Given the description of an element on the screen output the (x, y) to click on. 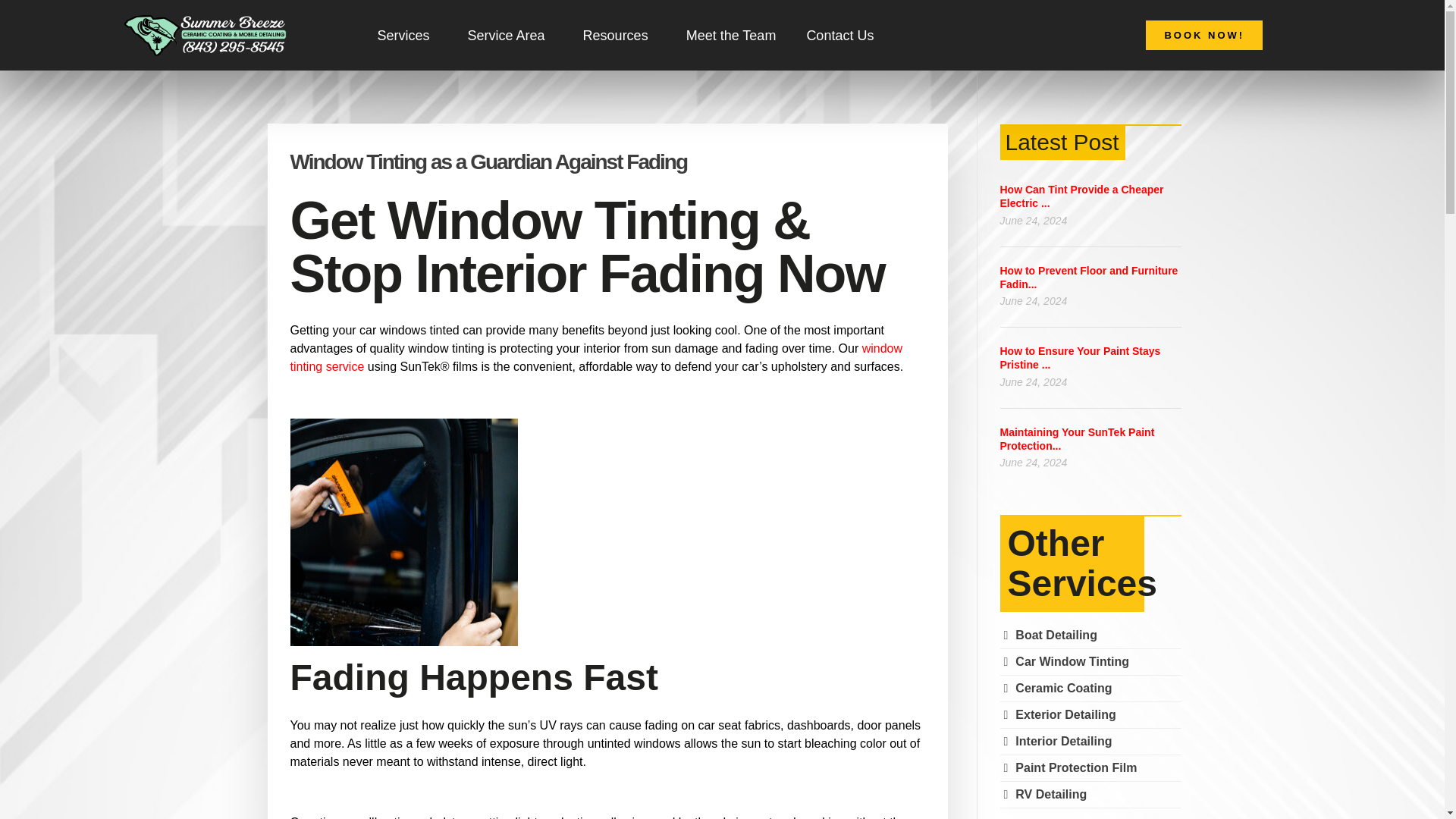
2024-06-24T02:07:04-05:00 (1032, 300)
2024-06-24T02:13:52-05:00 (1032, 220)
2024-06-24T02:00:48-05:00 (1032, 381)
Services (407, 35)
2024-06-24T01:59:09-05:00 (1032, 462)
